Given the description of an element on the screen output the (x, y) to click on. 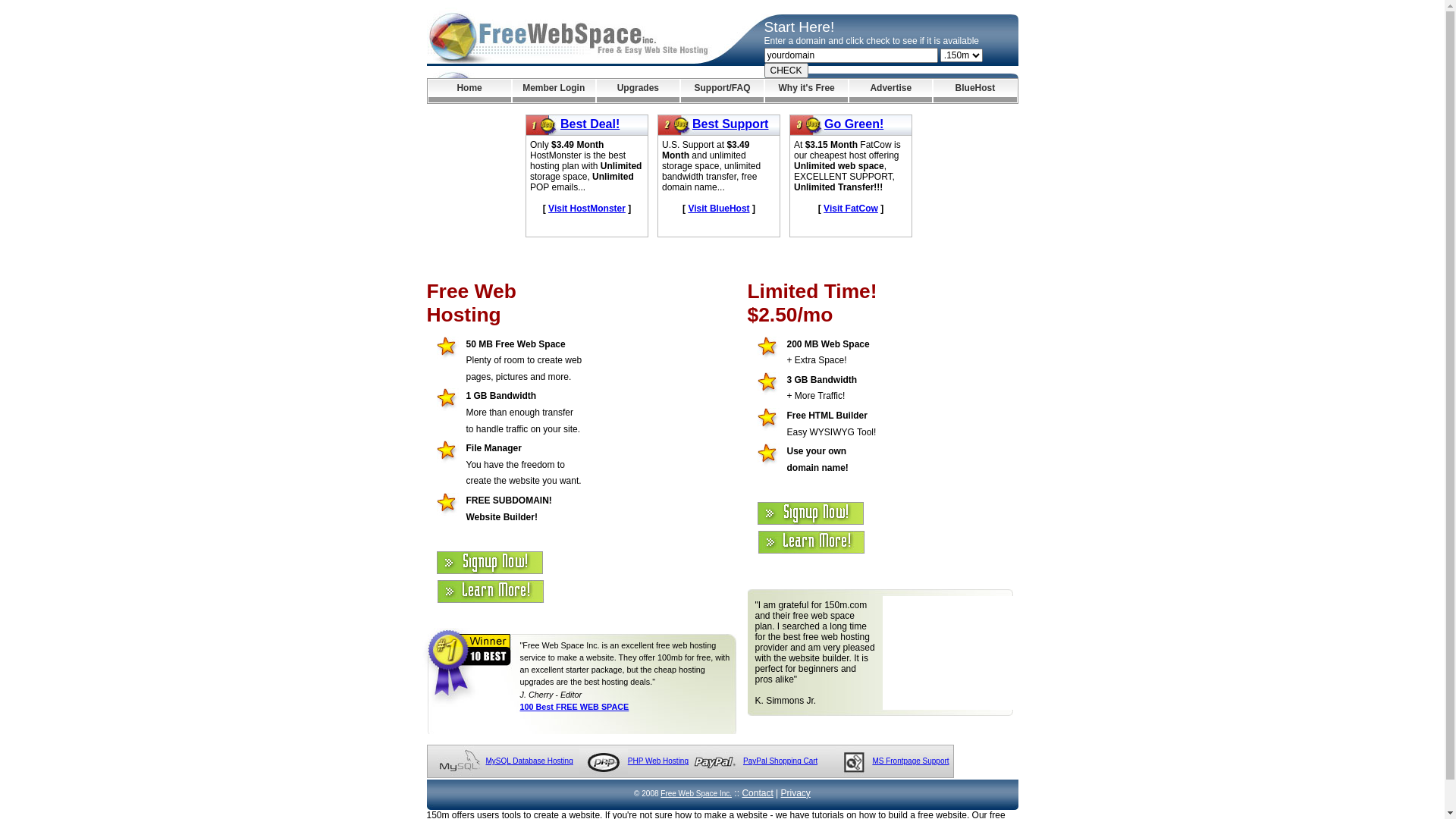
Support/FAQ Element type: text (721, 90)
Privacy Element type: text (795, 792)
Upgrades Element type: text (637, 90)
PayPal Shopping Cart Element type: text (780, 760)
BlueHost Element type: text (974, 90)
Why it's Free Element type: text (806, 90)
Contact Element type: text (756, 792)
MySQL Database Hosting Element type: text (528, 760)
Home Element type: text (468, 90)
Advertise Element type: text (890, 90)
MS Frontpage Support Element type: text (910, 760)
Member Login Element type: text (553, 90)
PHP Web Hosting Element type: text (657, 760)
CHECK Element type: text (786, 70)
100 Best FREE WEB SPACE Element type: text (574, 706)
Free Web Space Inc. Element type: text (695, 793)
